Given the description of an element on the screen output the (x, y) to click on. 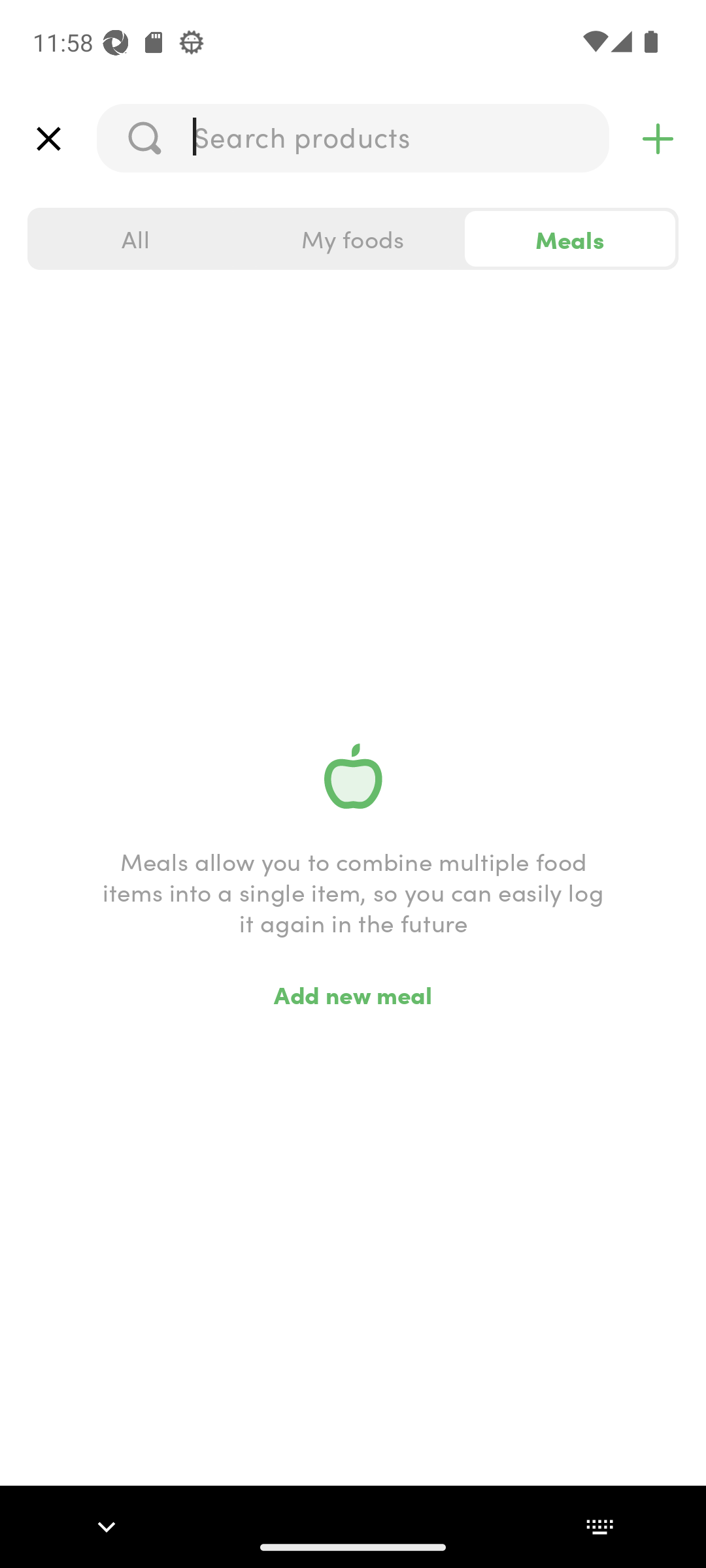
top_left_action (48, 138)
top_right_action (658, 138)
All (136, 238)
My foods (352, 238)
Add new meal (352, 993)
